Given the description of an element on the screen output the (x, y) to click on. 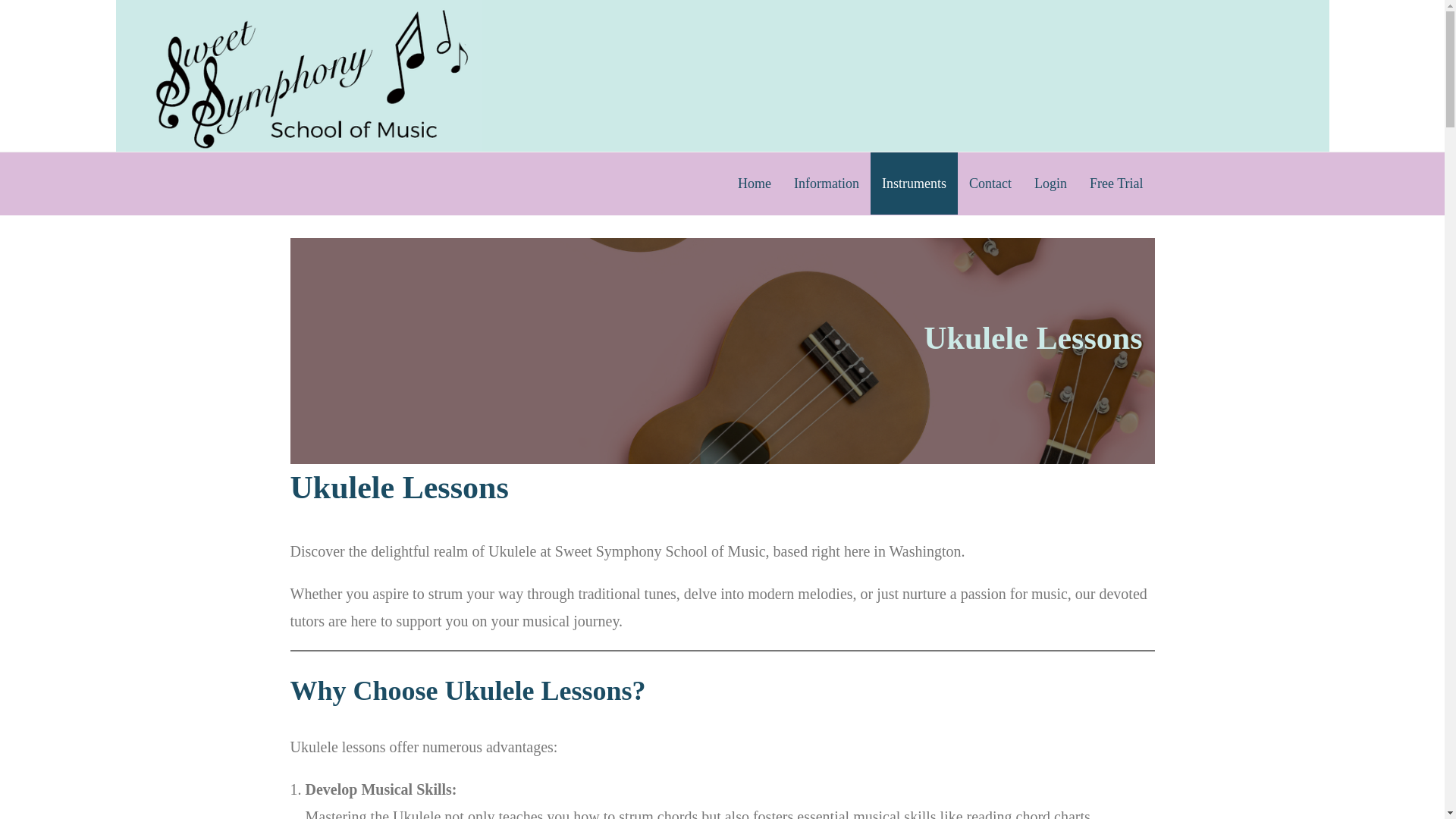
Free Trial (1116, 183)
Instruments (914, 183)
Login (1050, 183)
Information (826, 183)
Contact (990, 183)
Home (754, 183)
